Given the description of an element on the screen output the (x, y) to click on. 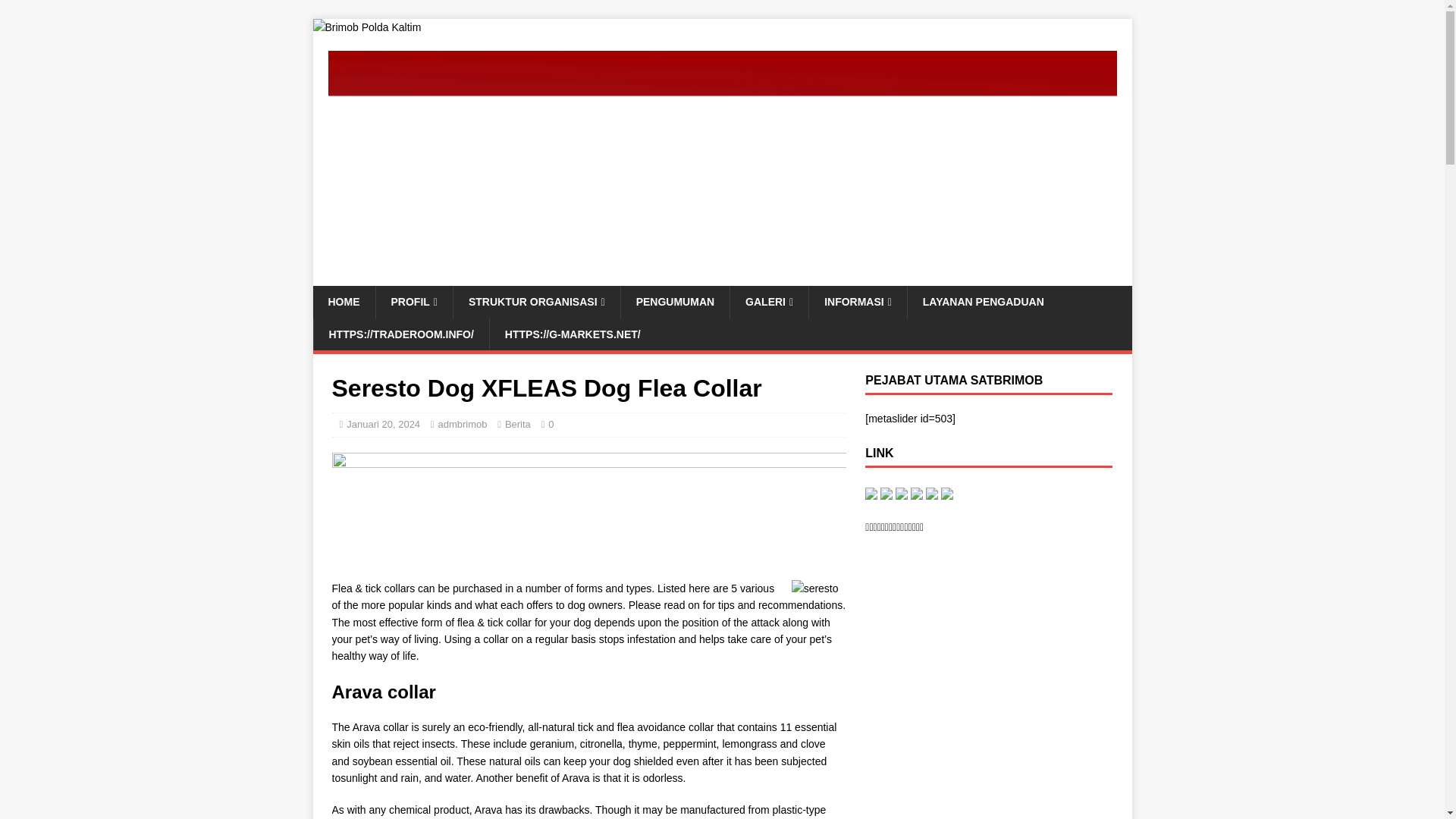
GALERI (768, 301)
PROFIL (412, 301)
PENGUMUMAN (674, 301)
HOME (343, 301)
STRUKTUR ORGANISASI (536, 301)
Brimob Polda Kaltim (366, 27)
